Given the description of an element on the screen output the (x, y) to click on. 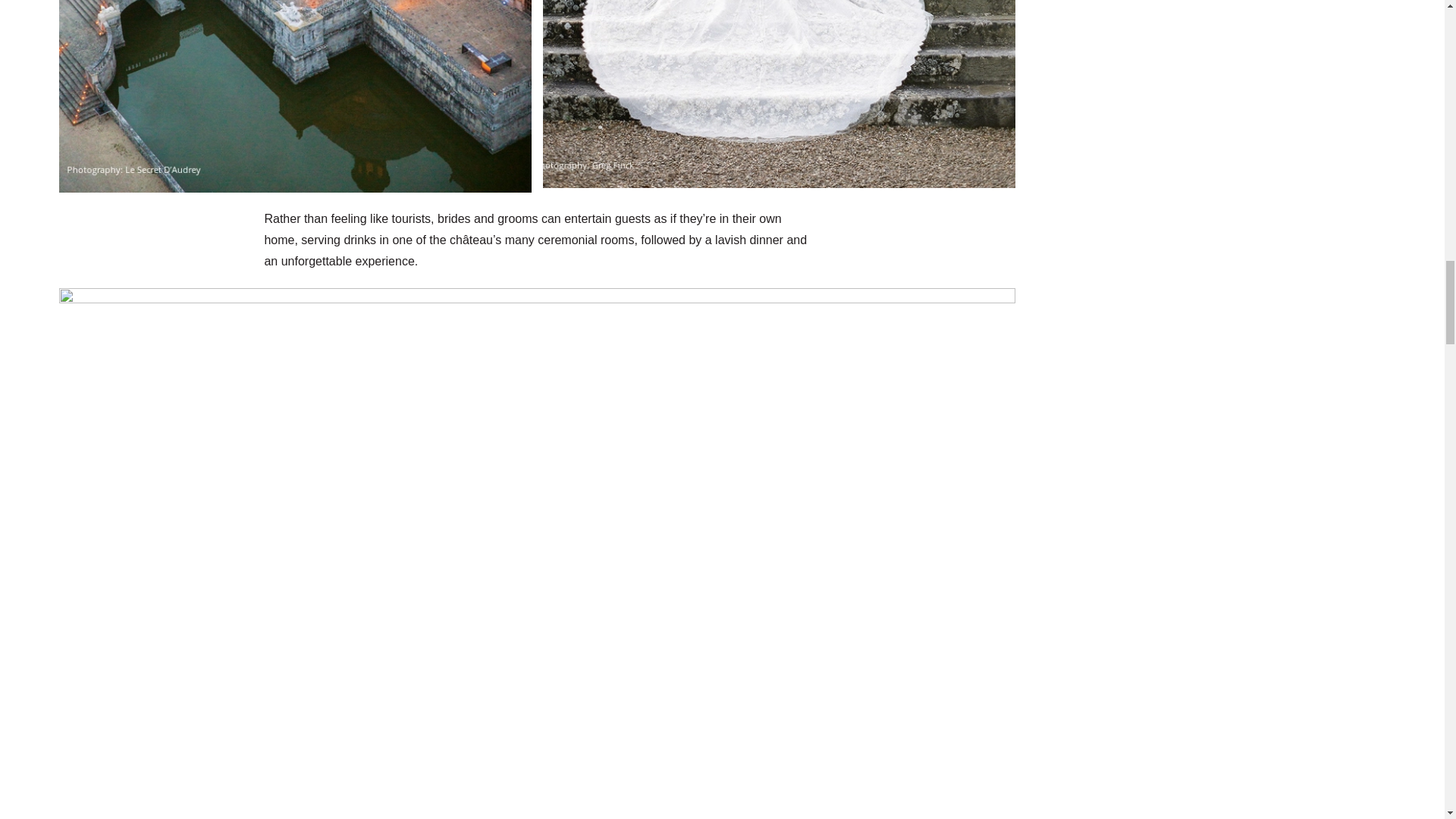
destination-wedding-editorial-fw18-castles-09 (295, 96)
destination-wedding-editorial-fw18-castles-11 (792, 93)
